Given the description of an element on the screen output the (x, y) to click on. 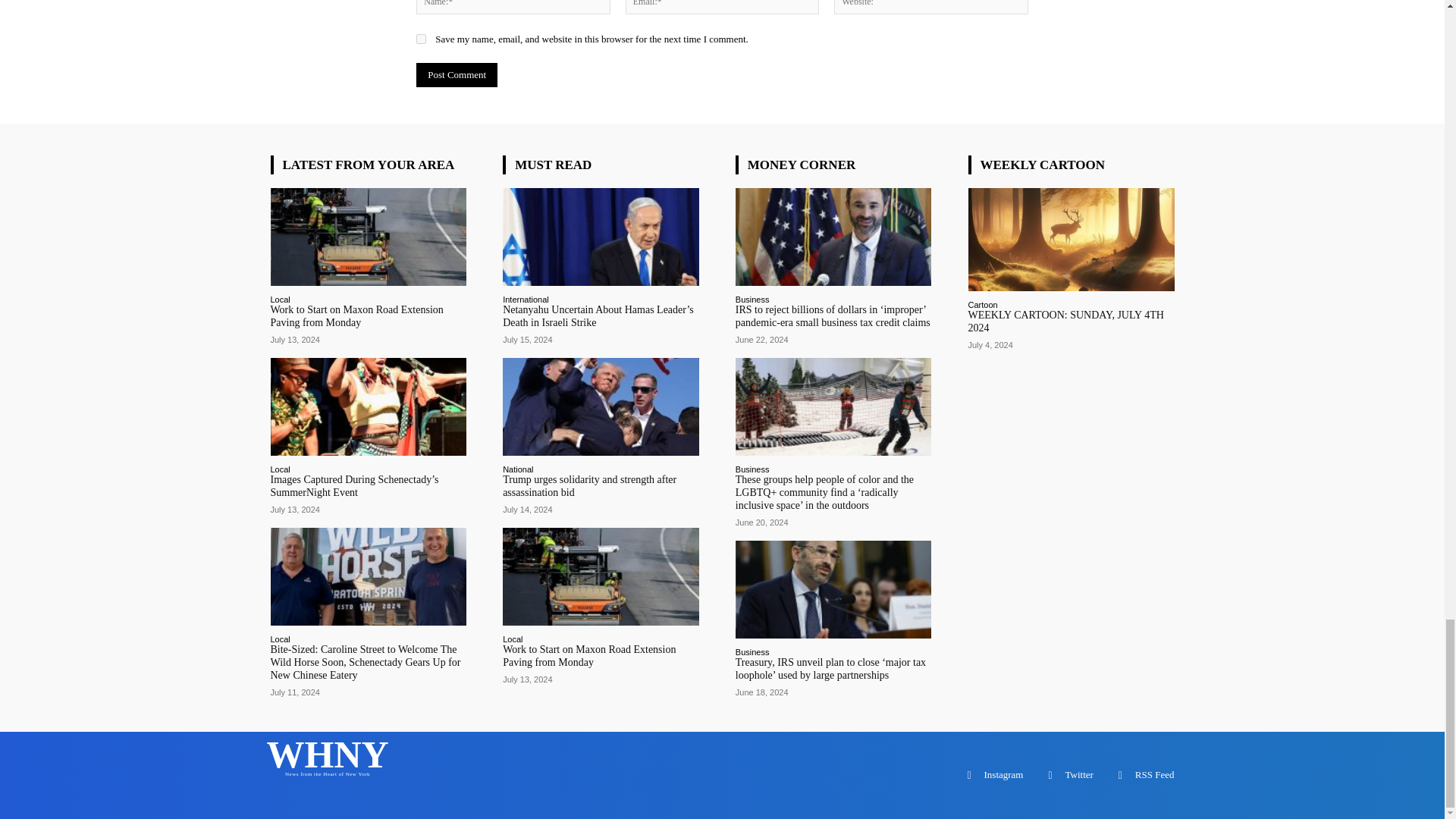
yes (421, 39)
Post Comment (456, 74)
